Given the description of an element on the screen output the (x, y) to click on. 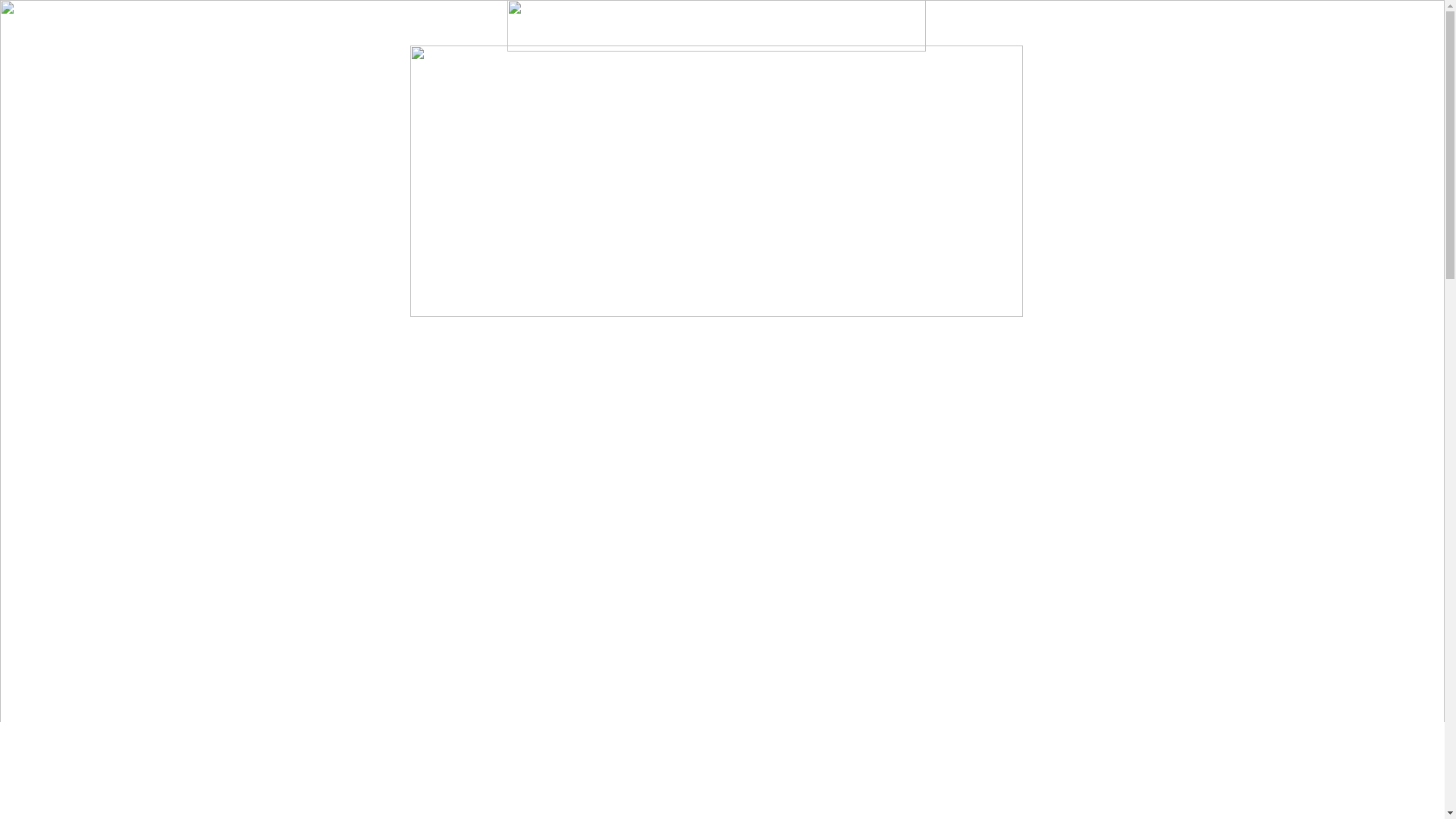
Home Element type: text (526, 17)
Glamping | C.O.Z | Sauna Element type: text (743, 17)
Treatments Element type: text (585, 17)
Products Element type: text (651, 17)
Contact & Gift Vouchers Element type: text (868, 17)
